Given the description of an element on the screen output the (x, y) to click on. 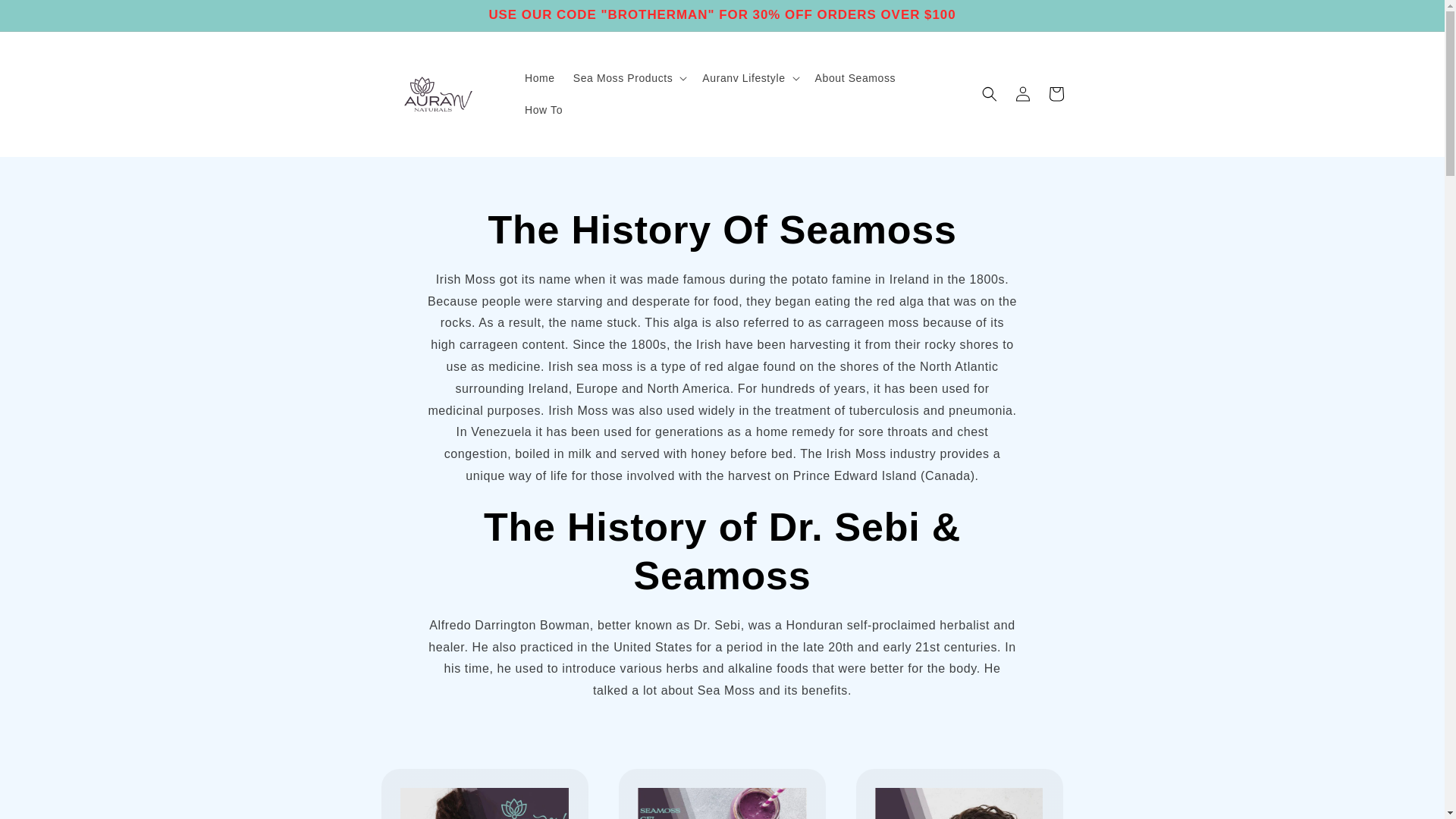
Cart (1055, 93)
Log in (1022, 93)
How To (543, 110)
Home (539, 78)
Skip to content (48, 20)
About Seamoss (855, 78)
